Given the description of an element on the screen output the (x, y) to click on. 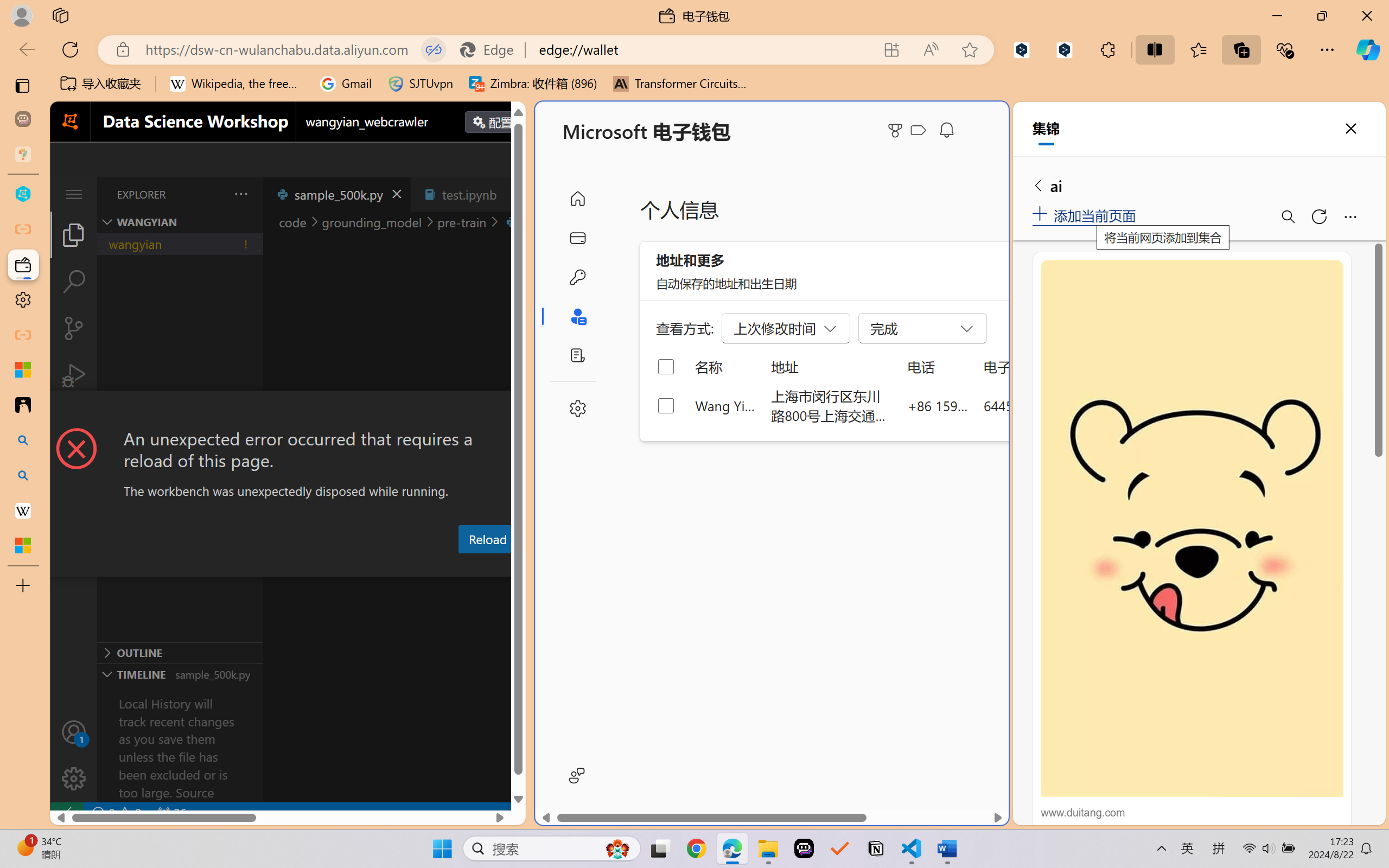
Gmail (345, 83)
Application Menu (73, 194)
Class: menubar compact overflow-menu-only (73, 194)
Explorer actions (212, 194)
Extensions (Ctrl+Shift+X) (73, 422)
Wang Yian (725, 405)
